Given the description of an element on the screen output the (x, y) to click on. 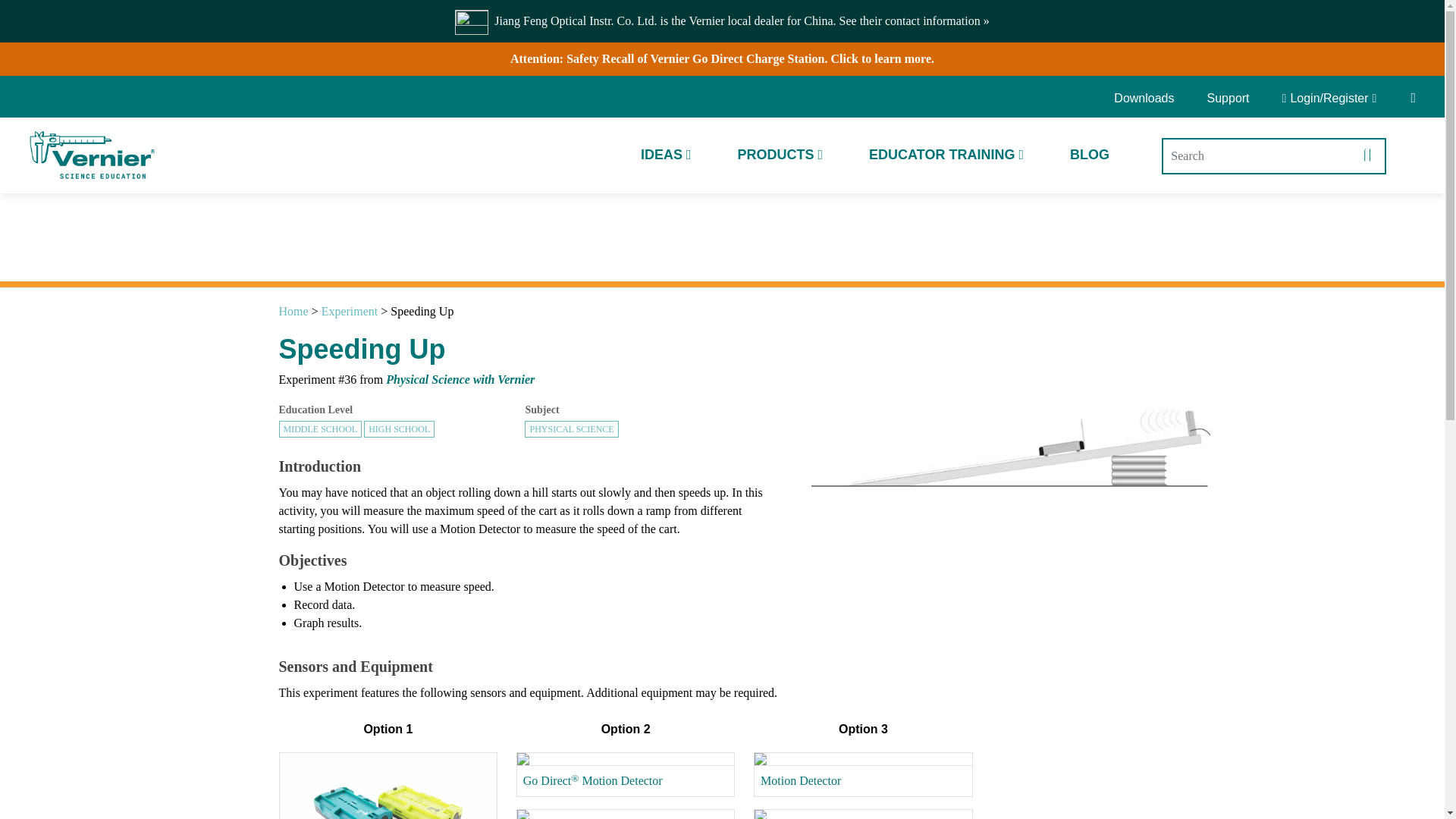
IDEAS (665, 154)
Vernier (90, 155)
Downloads (1149, 98)
PRODUCTS (779, 154)
Support (1227, 98)
